Given the description of an element on the screen output the (x, y) to click on. 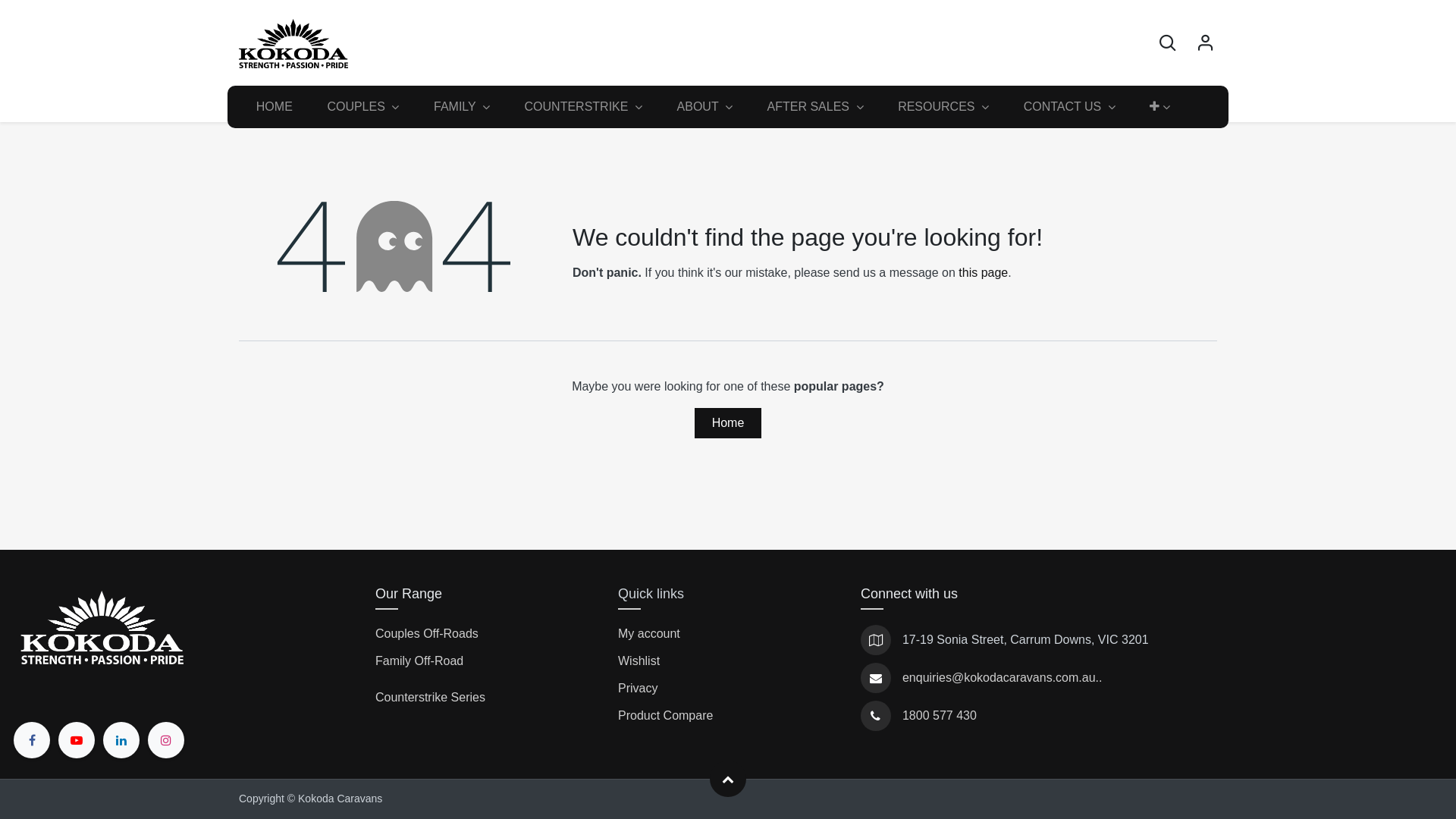
COUPLES Element type: text (363, 106)
Home Element type: text (727, 422)
ABOUT Element type: text (704, 106)
CONTACT US Element type: text (1069, 106)
Scroll To Top Element type: hover (727, 778)
Counterstrike Series Element type: text (430, 696)
Kokoda Caravans Element type: hover (293, 43)
enquiries@kokodacaravans.com.au Element type: text (998, 677)
this page Element type: text (982, 272)
Privacy Element type: text (637, 687)
Couples Off-Road Element type: text (423, 633)
Product Compare Element type: text (665, 715)
HOME Element type: text (274, 106)
Family Off-Road  Element type: text (421, 660)
RESOURCES Element type: text (942, 106)
Sign in Element type: text (1205, 42)
COUNTERSTRIKE Element type: text (583, 106)
AFTER SALES Element type: text (815, 106)
Wishlist Element type: text (638, 660)
1800 577 430 Element type: text (939, 715)
My account Element type: text (649, 633)
Kokoda Logo Element type: hover (102, 628)
FAMILY Element type: text (461, 106)
